Given the description of an element on the screen output the (x, y) to click on. 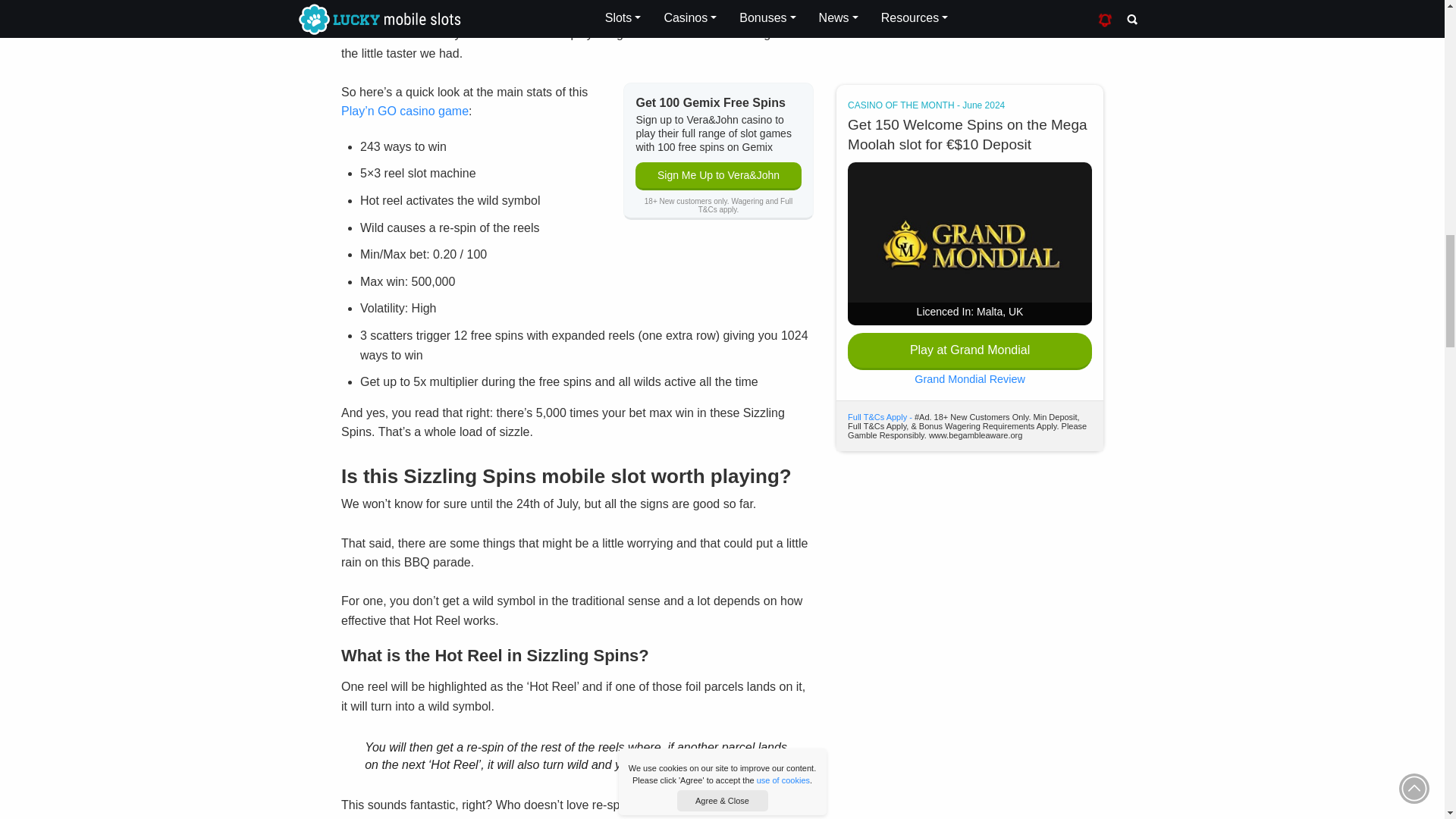
Play'n GO Casino Games (404, 110)
